Given the description of an element on the screen output the (x, y) to click on. 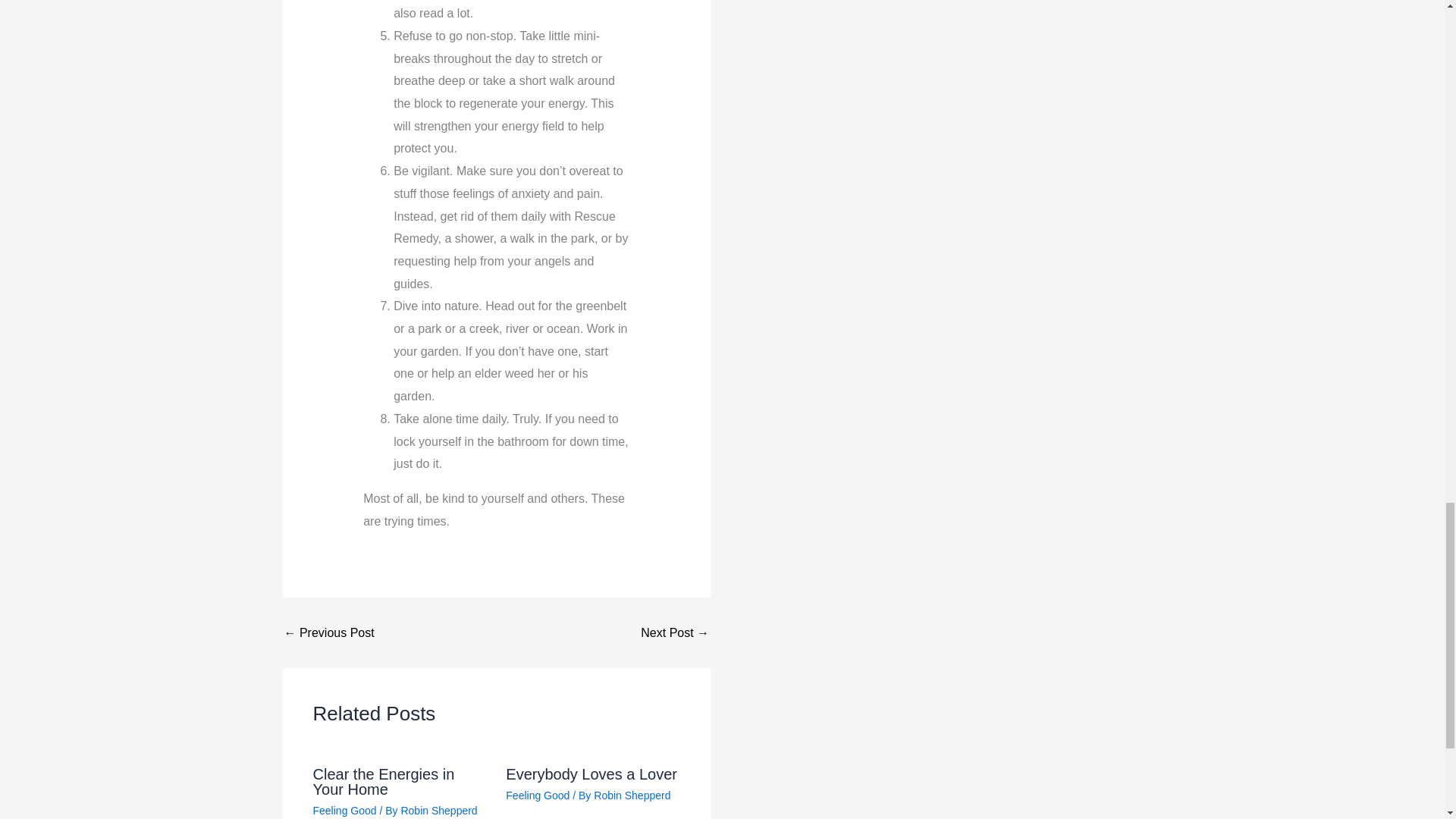
Clear the Energies in Your Home (383, 781)
Everybody Loves a Lover (591, 773)
View all posts by Robin Shepperd (438, 810)
Robin Shepperd (631, 795)
View all posts by Robin Shepperd (631, 795)
Clip Psychic Cords and Block Harsh Energies (674, 633)
Robin Shepperd (438, 810)
Feeling Good (537, 795)
Feeling Good (344, 810)
Six Ways to be Part of the Solution (328, 633)
